Given the description of an element on the screen output the (x, y) to click on. 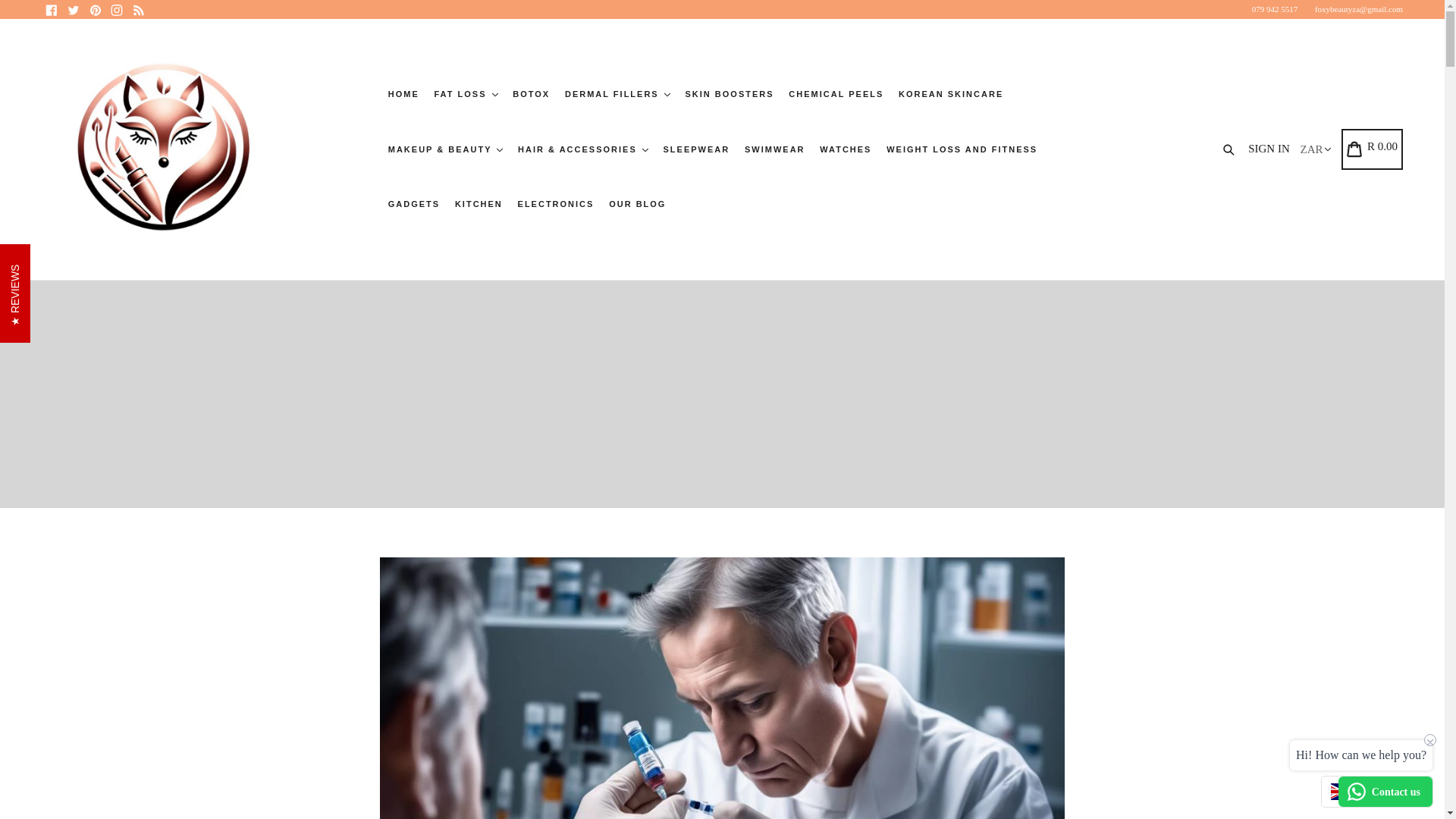
Foxy Beauty on Facebook (51, 9)
Foxy Beauty on Instagram (116, 9)
Foxy Beauty on Pinterest (94, 9)
Foxy Beauty on Twitter (73, 9)
